Given the description of an element on the screen output the (x, y) to click on. 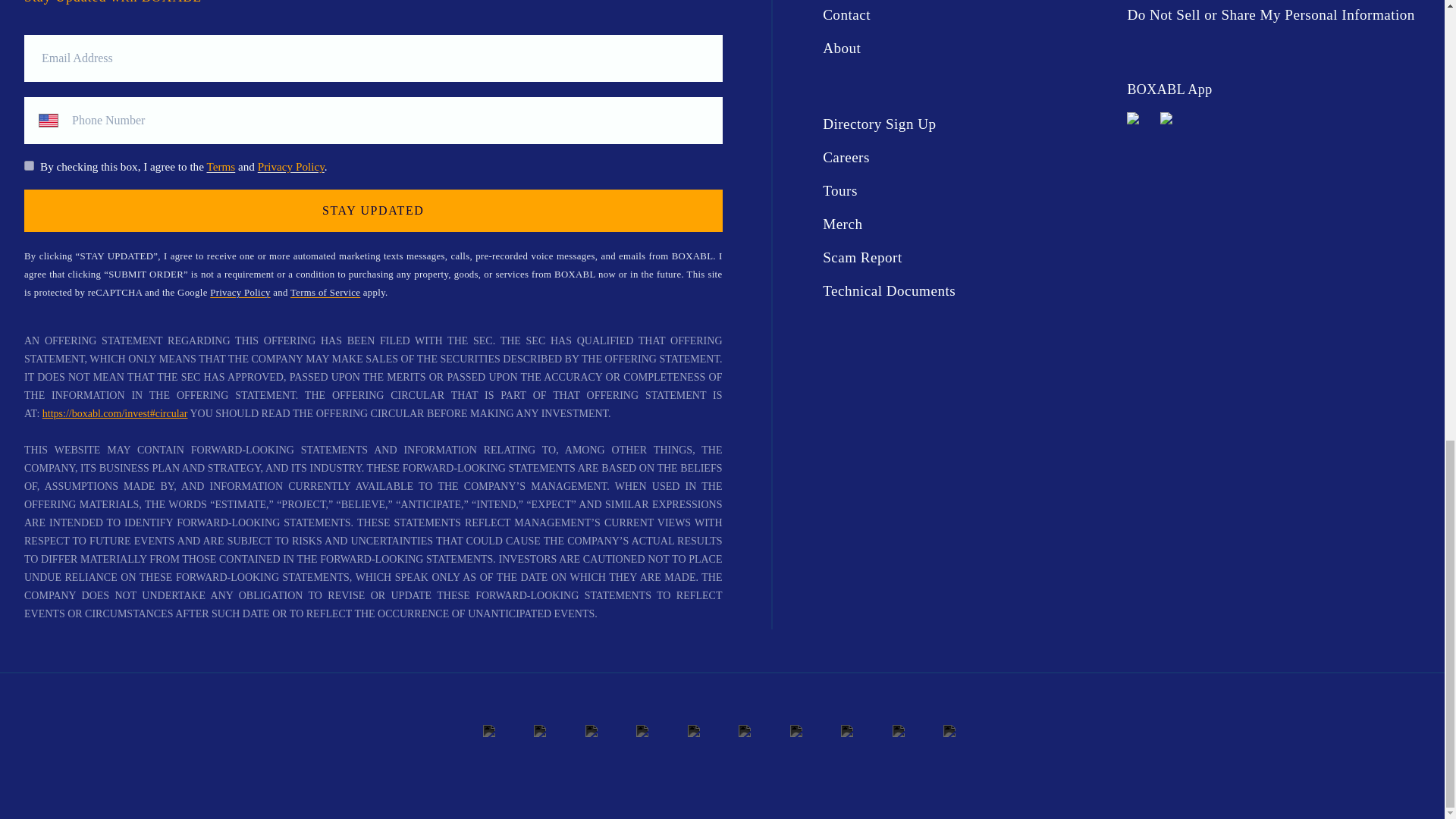
Privacy Policy (290, 165)
Privacy Policy (239, 292)
Scam Report (967, 257)
Terms of Service (324, 292)
Terms (220, 165)
STAY UPDATED (373, 210)
Merch (967, 224)
Technical Documents (967, 291)
Do Not Sell or Share My Personal Information (1272, 15)
Careers (967, 157)
Tours (967, 191)
Contact (967, 15)
About (967, 48)
Directory Sign Up (967, 124)
on (28, 165)
